Given the description of an element on the screen output the (x, y) to click on. 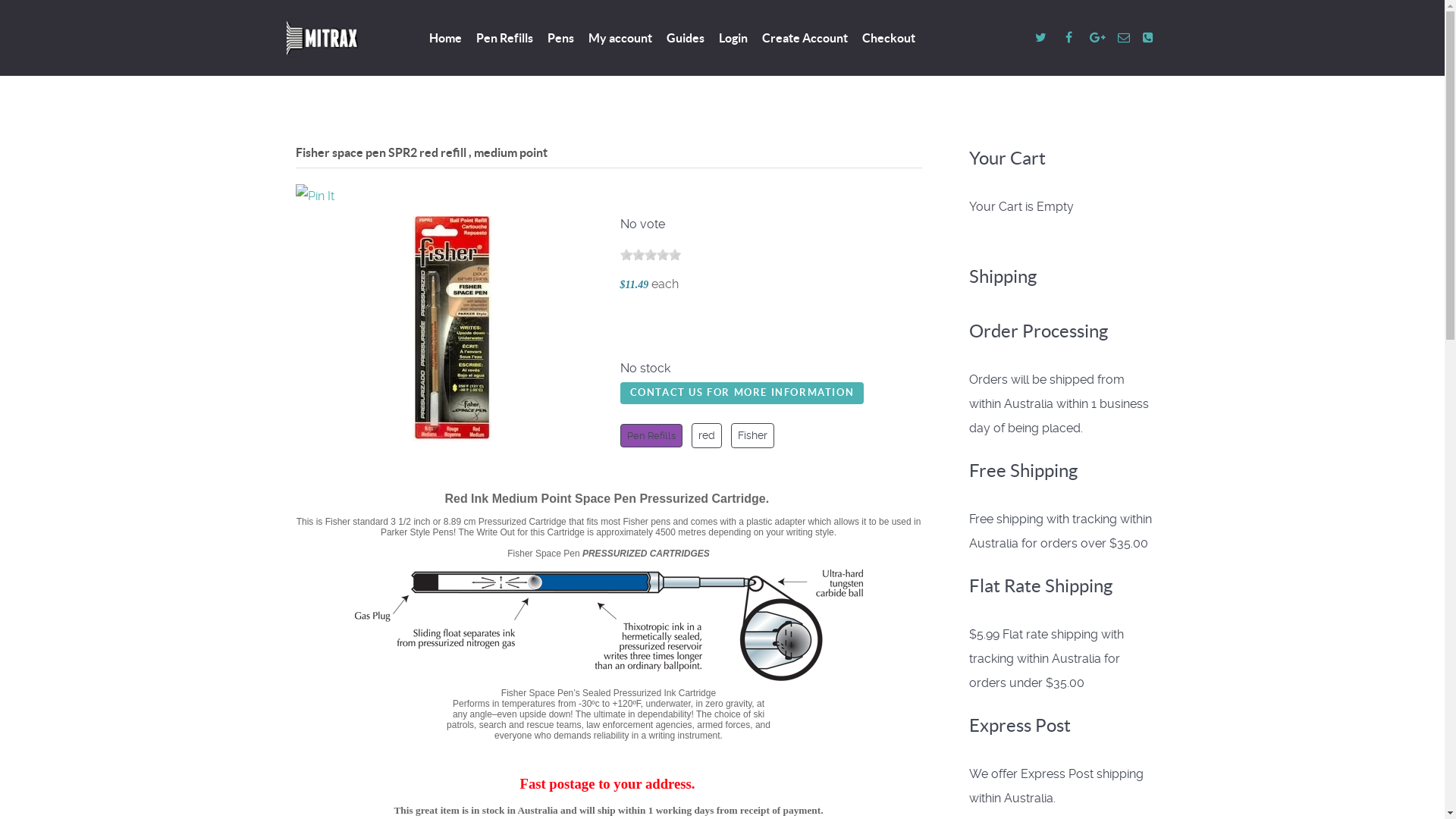
Fisher space pen SPR2 red refill , medium point Element type: hover (452, 328)
red Element type: text (706, 435)
Pen Refills Element type: text (504, 39)
Pens Element type: text (560, 39)
My account Element type: text (620, 39)
Checkout Element type: text (887, 39)
Home Element type: text (445, 39)
Pin It Element type: hover (314, 196)
Fisher Element type: text (752, 435)
Create Account Element type: text (804, 39)
CONTACT US FOR MORE INFORMATION Element type: text (742, 393)
Guides Element type: text (684, 39)
Fisher space pen SPR2 red refill , medium point Element type: hover (452, 327)
Login Element type: text (732, 39)
Pen Refills Element type: text (651, 435)
